Given the description of an element on the screen output the (x, y) to click on. 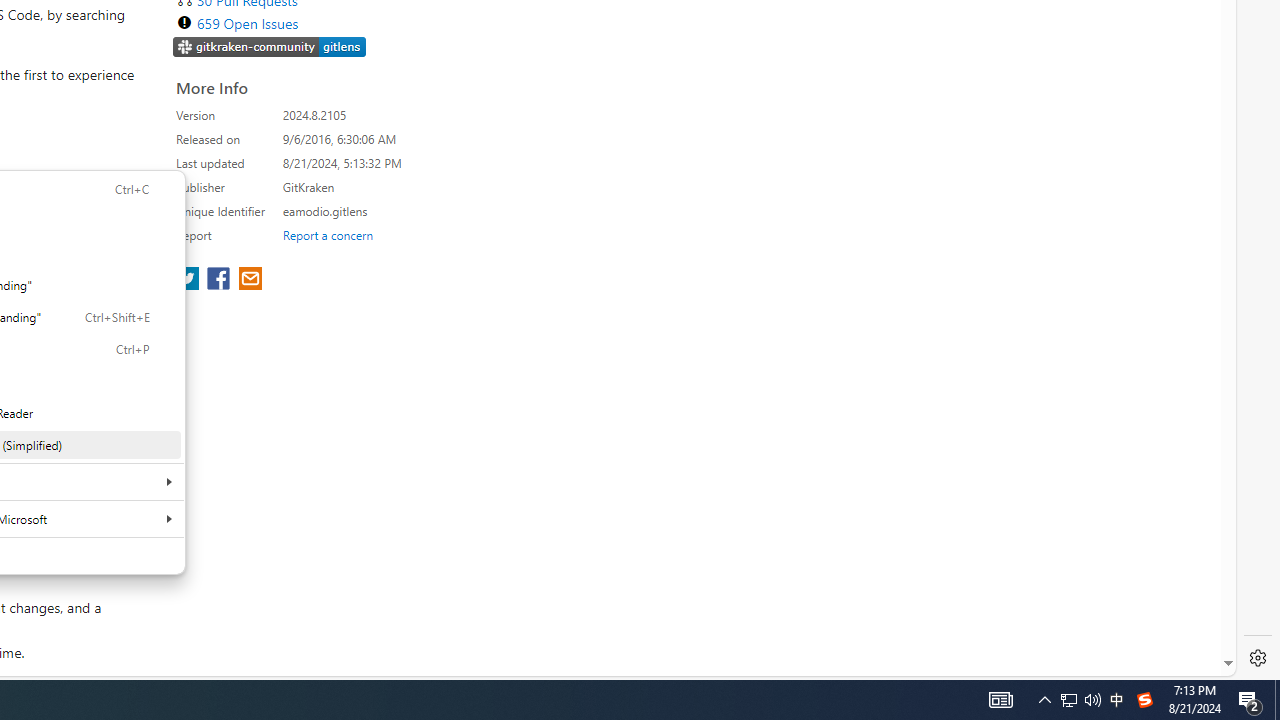
share extension on email (249, 280)
https://slack.gitkraken.com// (269, 48)
Report a concern (327, 234)
https://slack.gitkraken.com// (269, 46)
share extension on facebook (220, 280)
share extension on twitter (190, 280)
